Given the description of an element on the screen output the (x, y) to click on. 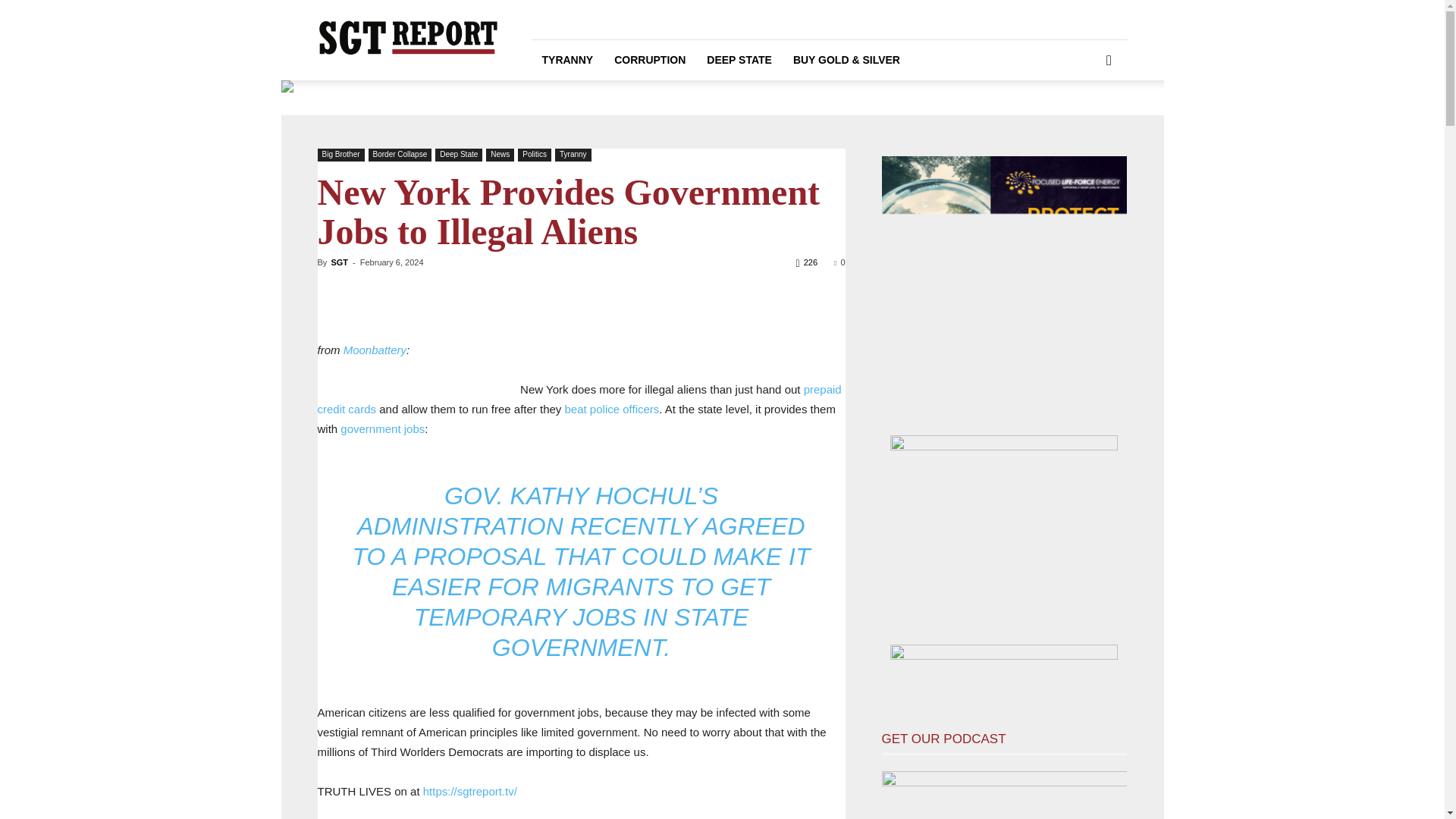
beat police officers (611, 408)
prepaid credit cards (579, 399)
DEEP STATE (739, 60)
TYRANNY (567, 60)
SGT (338, 261)
0 (839, 261)
Search (1085, 122)
Politics (534, 154)
Big Brother (340, 154)
News (499, 154)
